Given the description of an element on the screen output the (x, y) to click on. 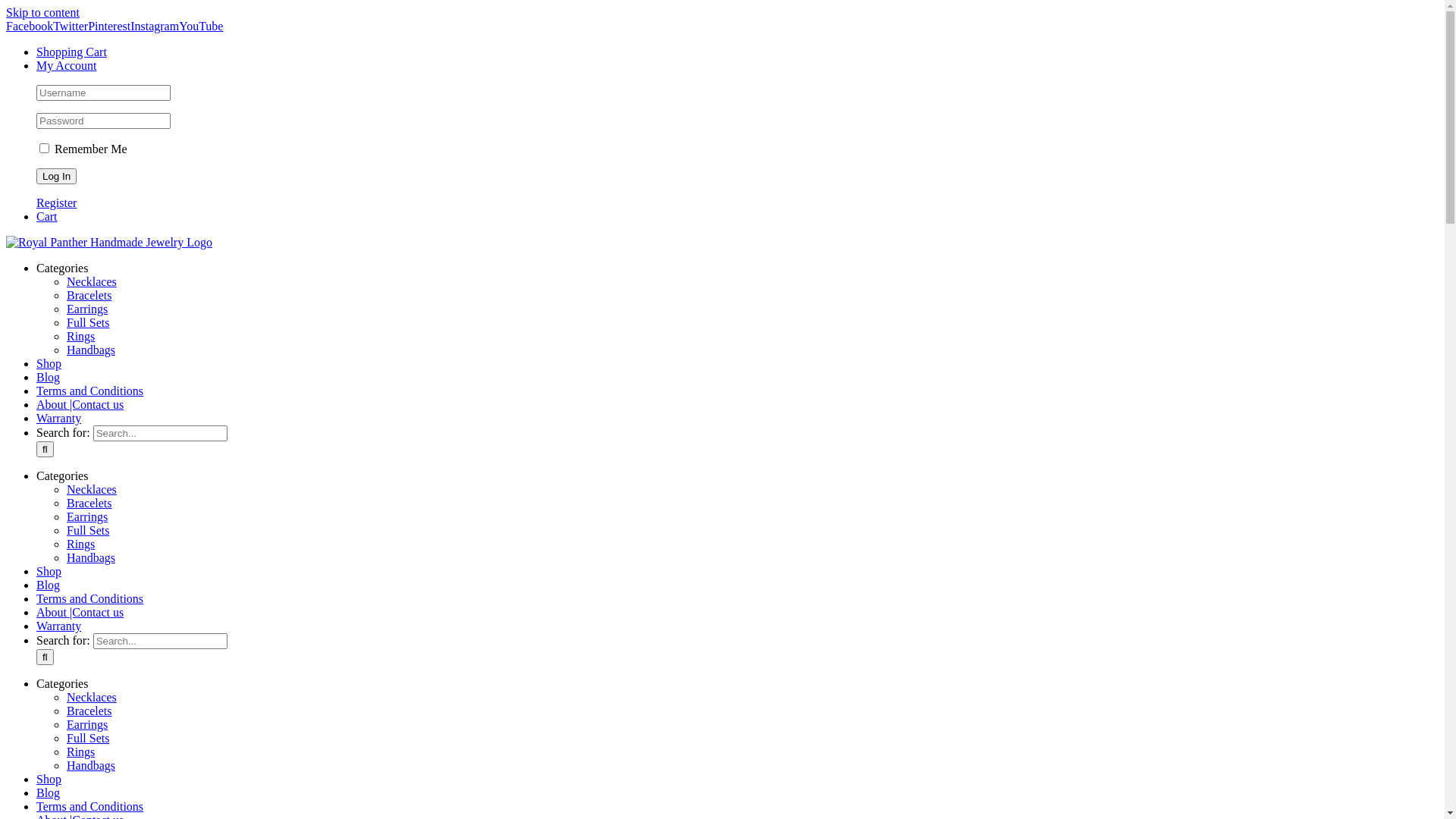
Necklaces Element type: text (91, 323)
Skip to content Element type: text (42, 12)
Earrings Element type: text (86, 558)
Handbags Element type: text (90, 391)
My Account Element type: text (66, 65)
Terms and Conditions Element type: text (89, 432)
Cart Element type: text (46, 216)
Full Sets Element type: text (87, 364)
Twitter Element type: text (70, 25)
Necklaces Element type: text (91, 739)
Handbags Element type: text (90, 599)
Bracelets Element type: text (89, 545)
Necklaces Element type: text (91, 531)
Earrings Element type: text (86, 766)
Blog Element type: text (47, 627)
Warranty Element type: text (58, 668)
Shop Element type: text (48, 405)
Handbags Element type: text (90, 807)
About |Contact us Element type: text (79, 654)
Rings Element type: text (80, 793)
Rings Element type: text (80, 378)
Pinterest Element type: text (108, 25)
Shopping Cart Element type: text (71, 51)
Register Element type: text (56, 202)
Rings Element type: text (80, 586)
Categories Element type: text (61, 310)
YouTube Element type: text (200, 25)
Shop Element type: text (48, 613)
Facebook Element type: text (29, 25)
Bracelets Element type: text (89, 752)
Log In Element type: text (56, 176)
Earrings Element type: text (86, 351)
Warranty Element type: text (58, 460)
Categories Element type: text (61, 725)
Bracelets Element type: text (89, 337)
Instagram Element type: text (154, 25)
Categories Element type: text (61, 517)
About |Contact us Element type: text (79, 446)
Blog Element type: text (47, 419)
Full Sets Element type: text (87, 572)
Full Sets Element type: text (87, 780)
Terms and Conditions Element type: text (89, 640)
